Given the description of an element on the screen output the (x, y) to click on. 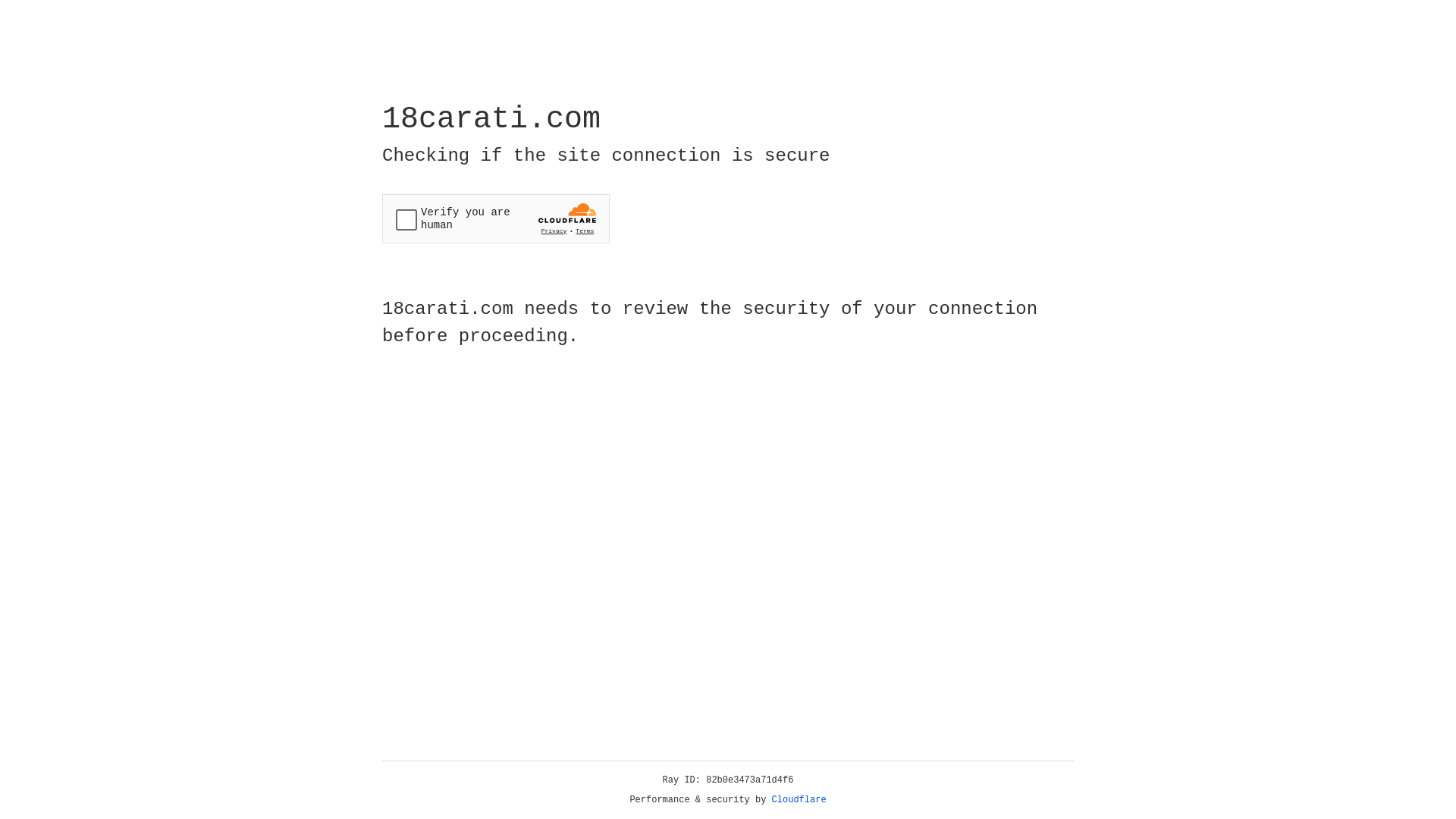
Widget containing a Cloudflare security challenge Element type: hover (495, 218)
Cloudflare Element type: text (798, 799)
